Given the description of an element on the screen output the (x, y) to click on. 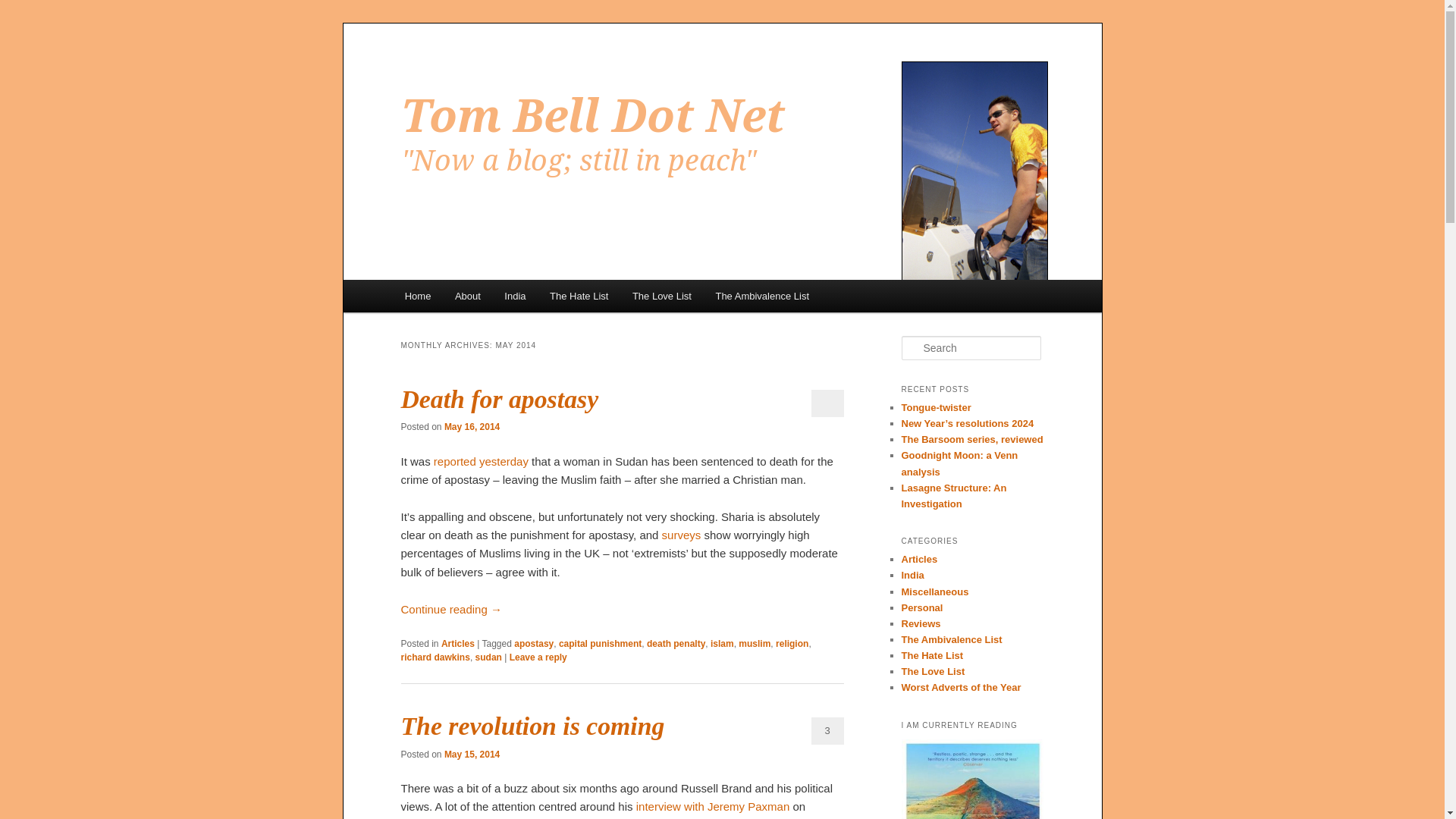
interview with Jeremy Paxman (713, 806)
religion (792, 643)
2:25 pm (471, 754)
Leave a reply (538, 656)
death penalty (675, 643)
surveys (681, 534)
About (467, 296)
The Love List (661, 296)
Home (417, 296)
capital punishment (600, 643)
